Given the description of an element on the screen output the (x, y) to click on. 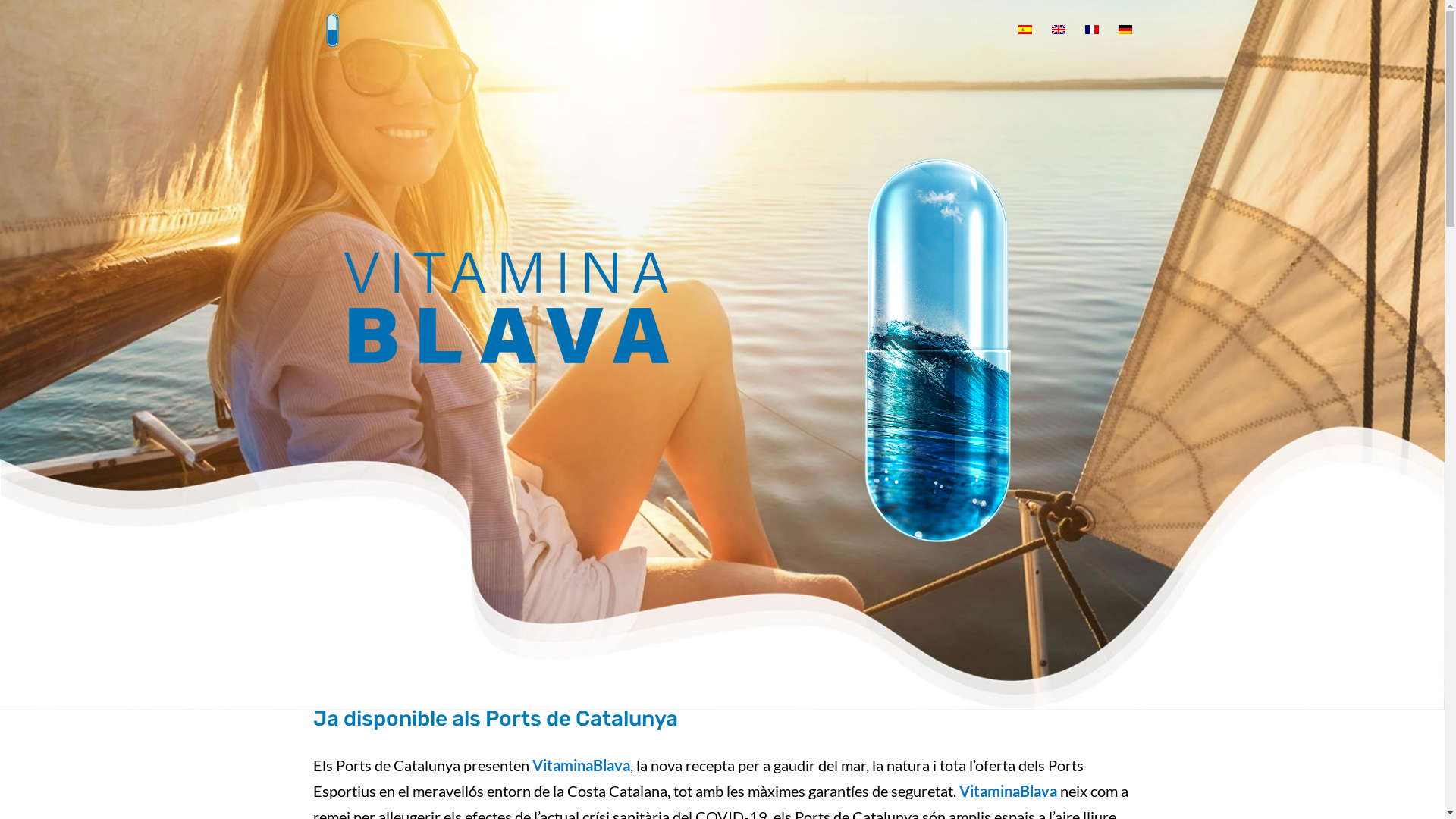
pill Element type: hover (937, 349)
vb Element type: hover (505, 307)
